Given the description of an element on the screen output the (x, y) to click on. 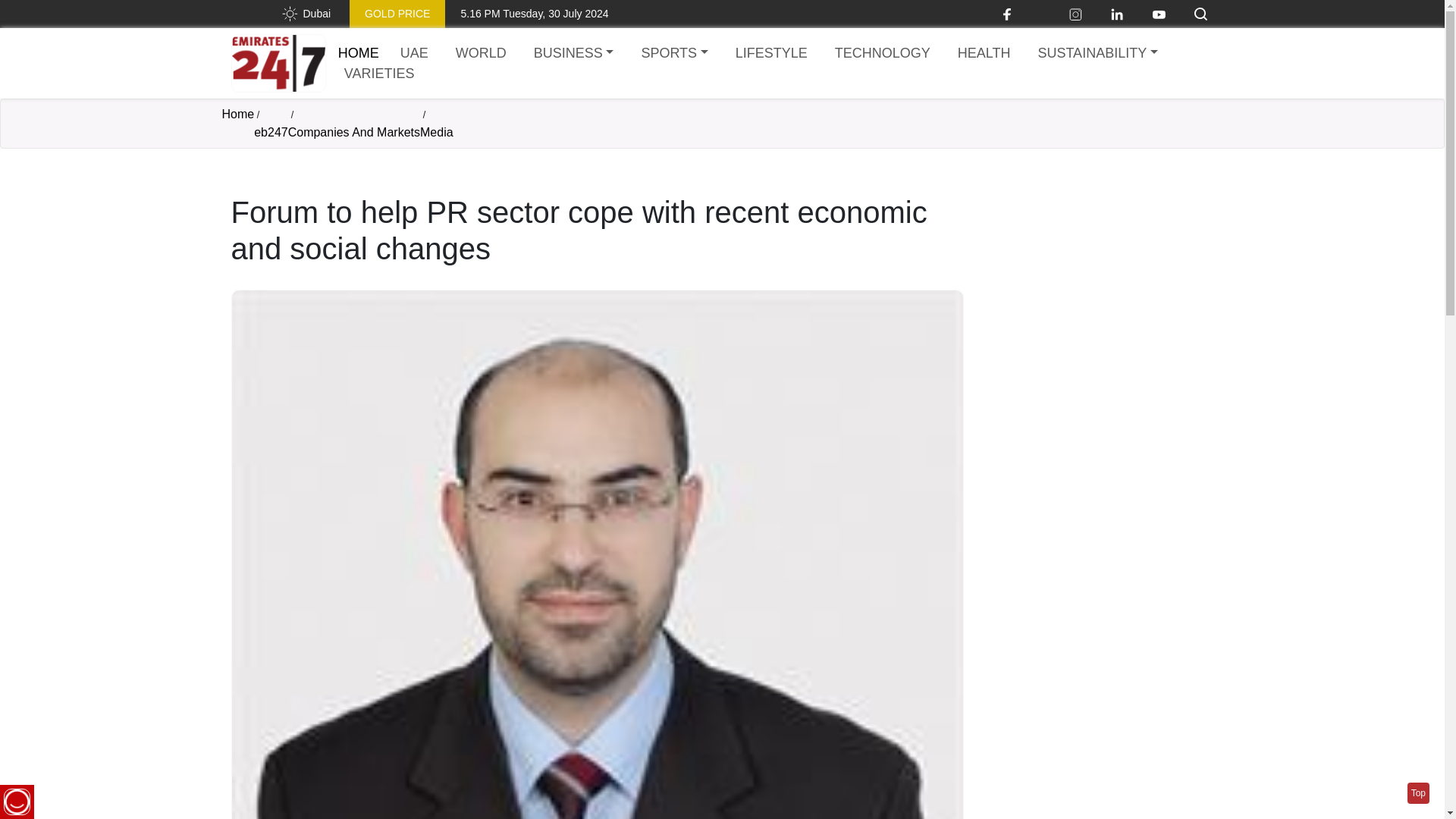
Home (237, 114)
Media (436, 132)
Home (277, 63)
HOME (357, 53)
UAE (413, 53)
WORLD (480, 53)
Companies And Markets (354, 132)
Dubai (305, 13)
eb247 (270, 132)
HEALTH (984, 53)
BUSINESS (573, 53)
GOLD PRICE (397, 13)
VARIETIES (378, 73)
TECHNOLOGY (882, 53)
Home (357, 53)
